Given the description of an element on the screen output the (x, y) to click on. 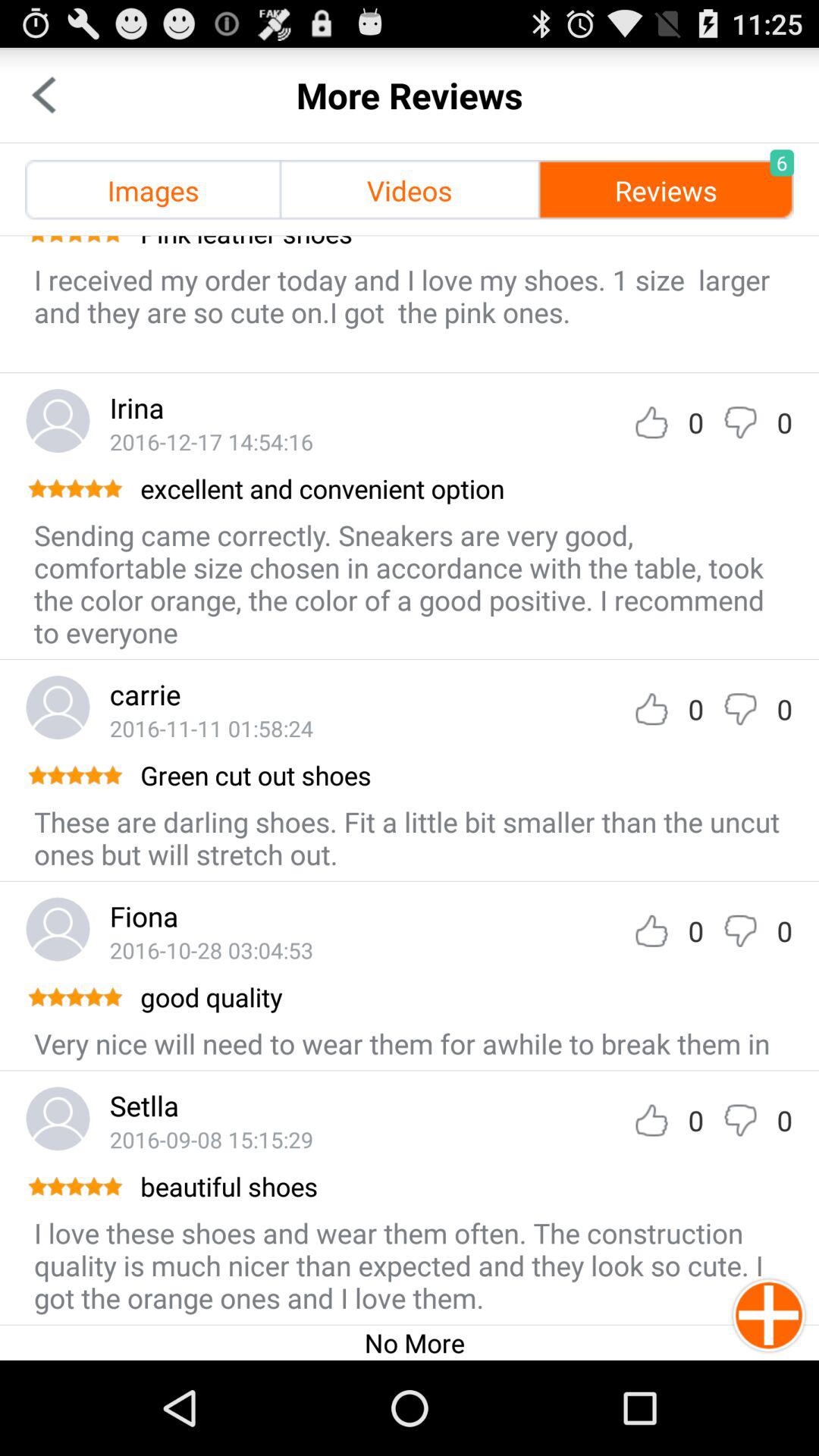
select app to the left of the more reviews app (43, 95)
